Given the description of an element on the screen output the (x, y) to click on. 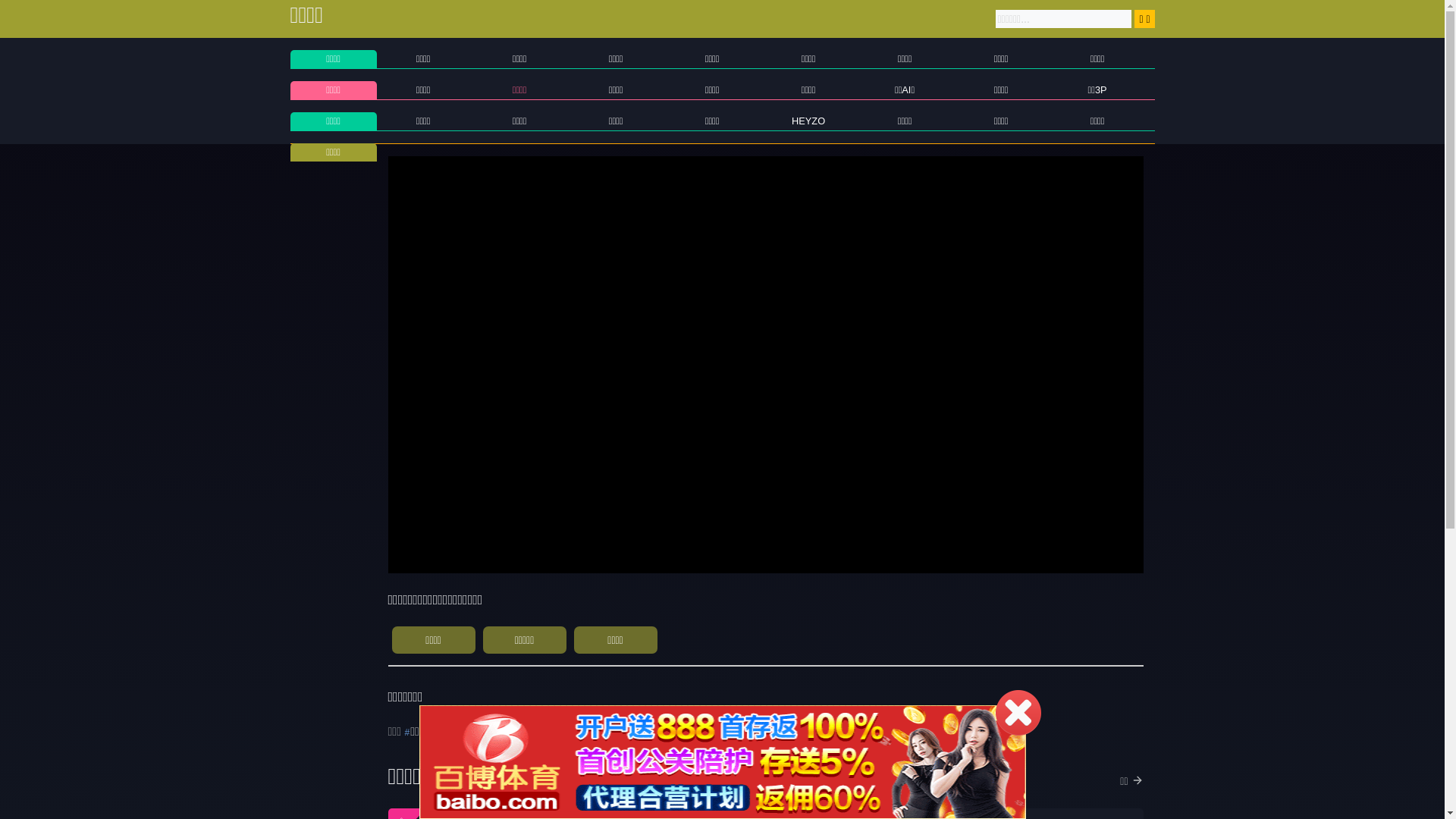
HEYZO Element type: text (808, 120)
